Given the description of an element on the screen output the (x, y) to click on. 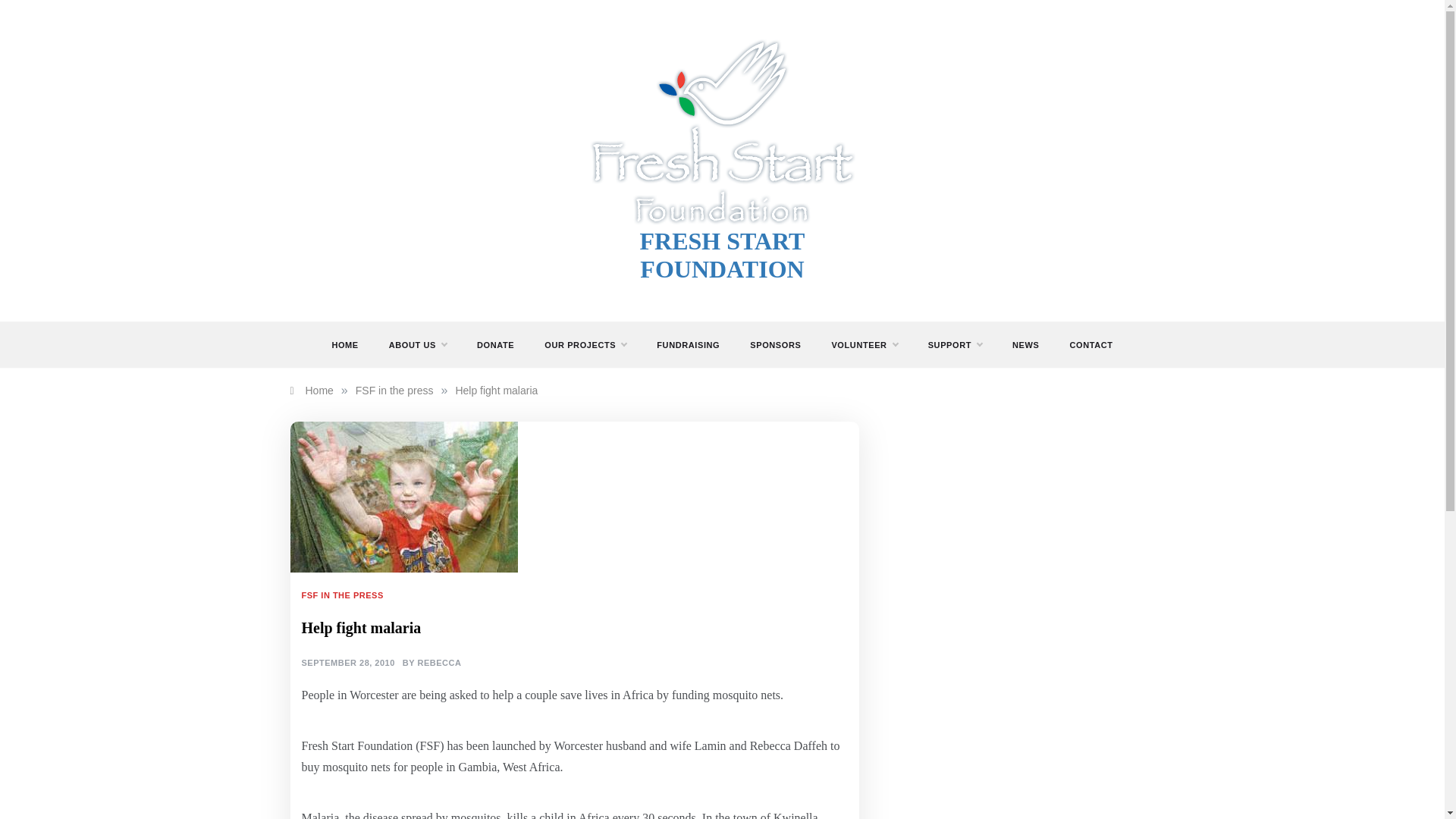
SPONSORS (775, 344)
VOLUNTEER (863, 344)
SEPTEMBER 28, 2010 (347, 663)
FRESH START FOUNDATION (722, 254)
NEWS (1025, 344)
FUNDRAISING (688, 344)
CONTACT (1083, 344)
FSF IN THE PRESS (344, 595)
FSF in the press (394, 390)
DONATE (495, 344)
ABOUT US (417, 344)
OUR PROJECTS (585, 344)
Help fight malaria (495, 390)
REBECCA (438, 663)
HOME (351, 344)
